Given the description of an element on the screen output the (x, y) to click on. 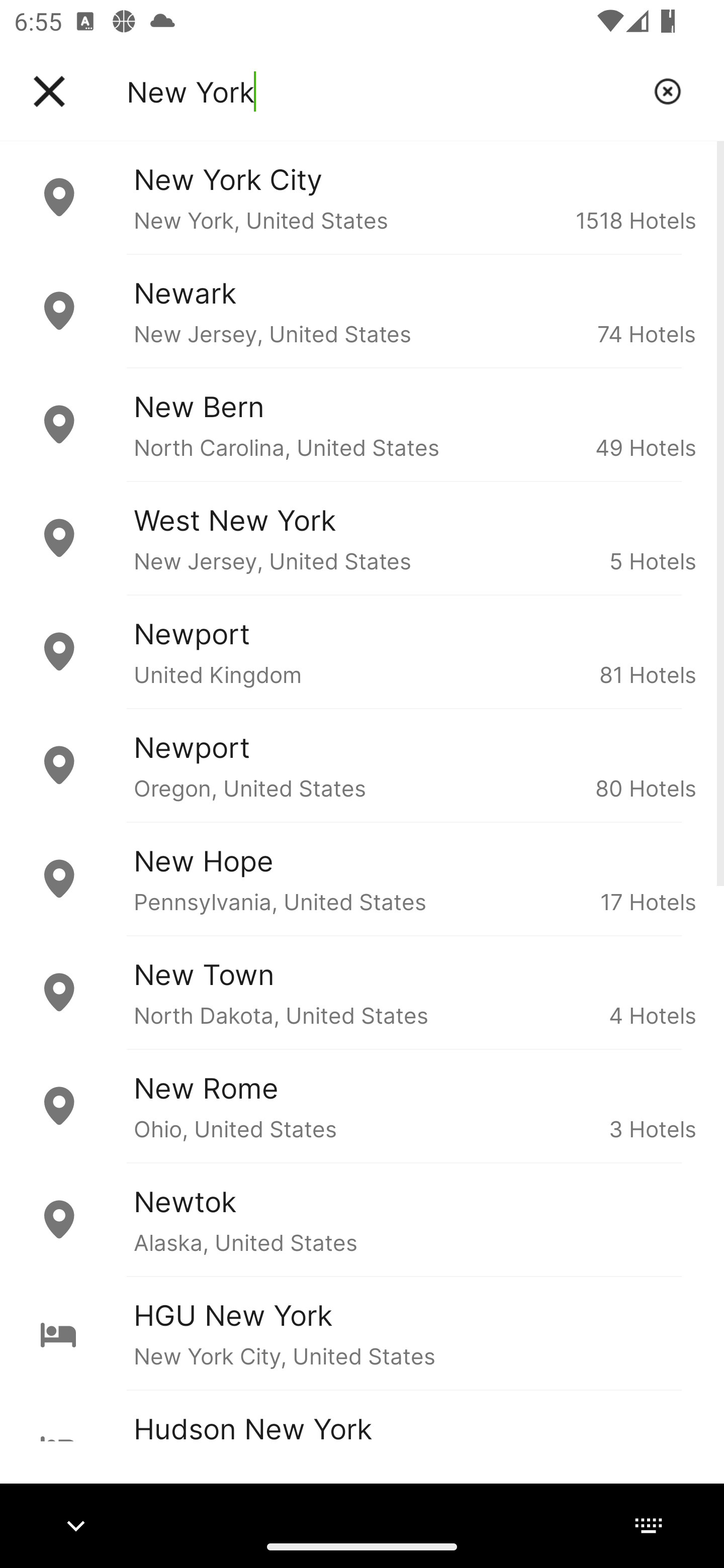
New York (382, 91)
New York City New York, United States 1518 Hotels (362, 197)
Newark New Jersey, United States 74 Hotels (362, 310)
New Bern North Carolina, United States 49 Hotels (362, 424)
West New York New Jersey, United States 5 Hotels (362, 537)
Newport United Kingdom 81 Hotels (362, 651)
Newport Oregon, United States 80 Hotels (362, 764)
New Hope Pennsylvania, United States 17 Hotels (362, 878)
New Town North Dakota, United States 4 Hotels (362, 992)
New Rome Ohio, United States 3 Hotels (362, 1105)
Newtok Alaska, United States (362, 1219)
HGU New York New York City, United States (362, 1332)
